Given the description of an element on the screen output the (x, y) to click on. 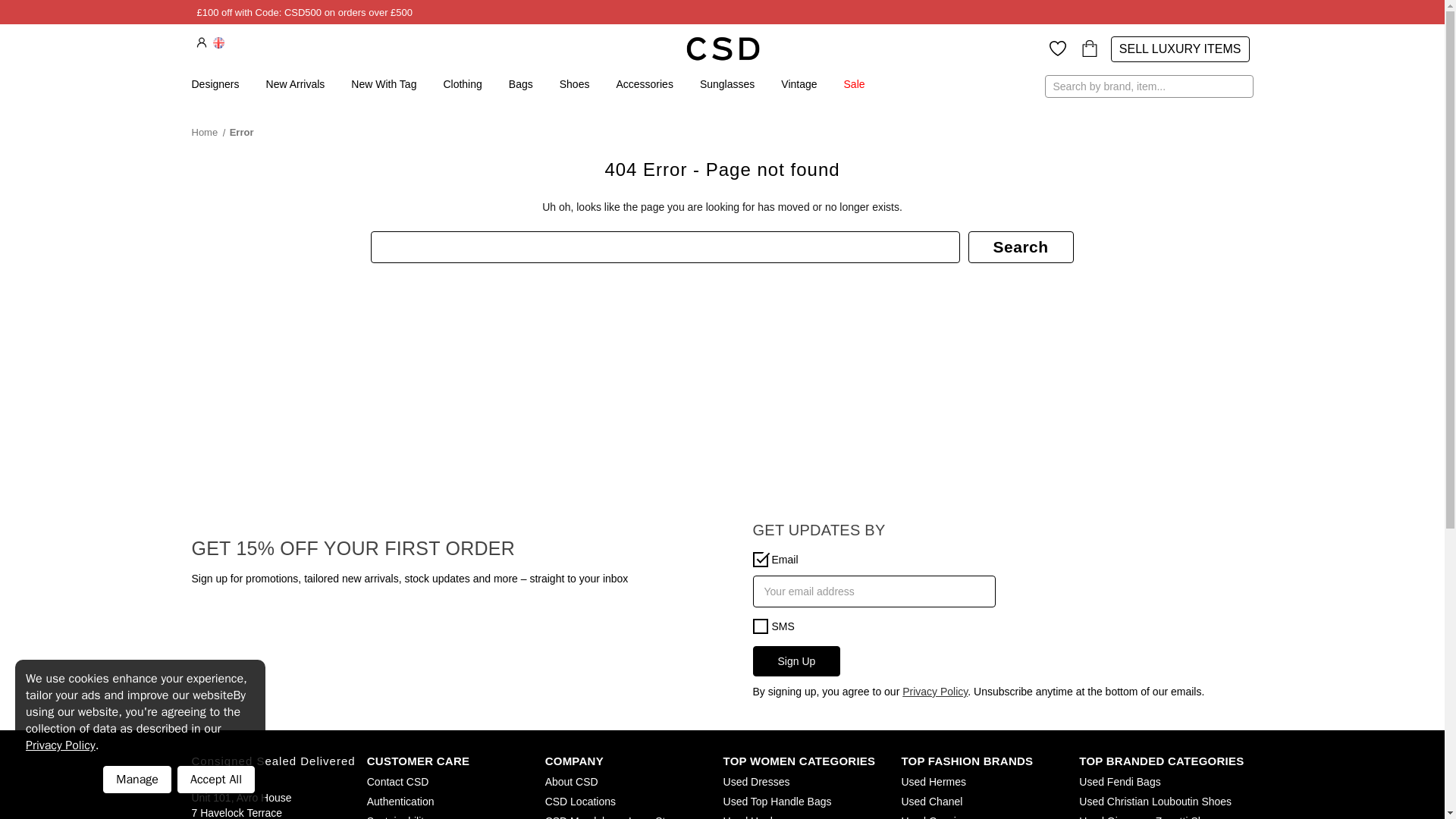
Designers (214, 84)
Consigned Sealed Delivered LTD (721, 47)
SELL LUXURY ITEMS (1179, 49)
GBP (218, 42)
Search (1021, 246)
Sign Up (796, 661)
